Given the description of an element on the screen output the (x, y) to click on. 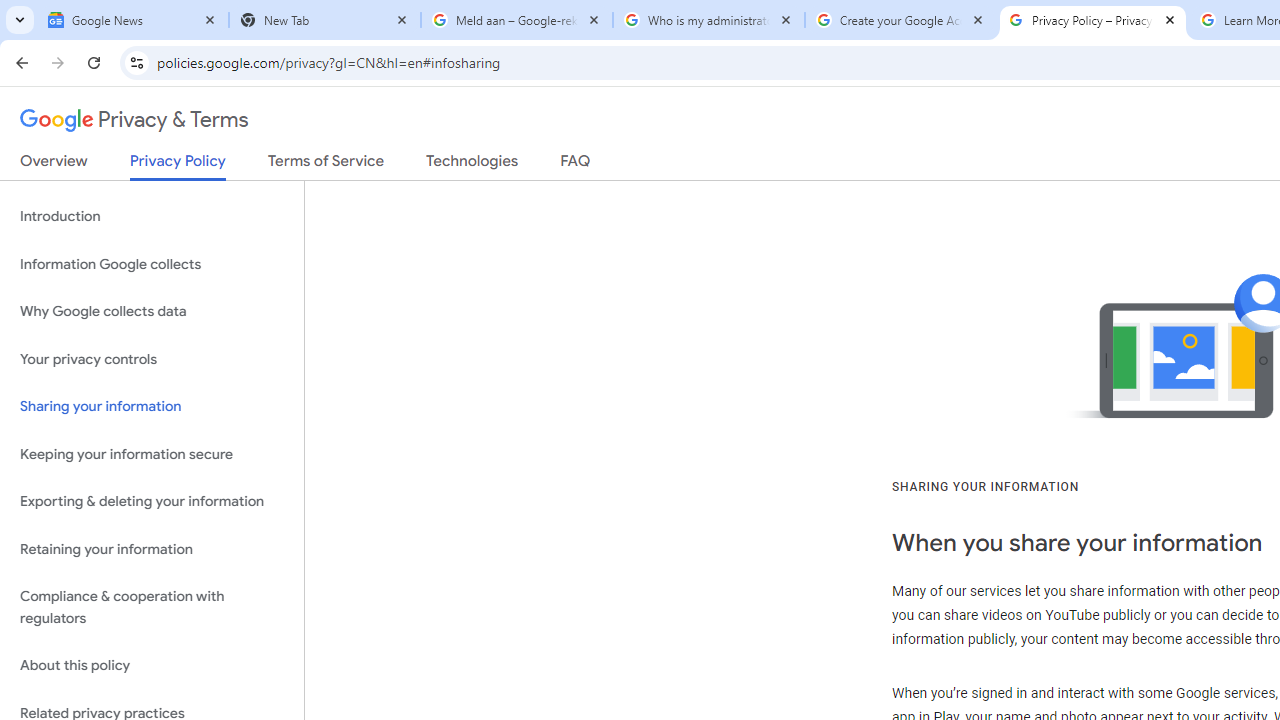
Your privacy controls (152, 358)
Keeping your information secure (152, 453)
Information Google collects (152, 263)
About this policy (152, 666)
Retaining your information (152, 548)
Compliance & cooperation with regulators (152, 607)
Who is my administrator? - Google Account Help (709, 20)
